Given the description of an element on the screen output the (x, y) to click on. 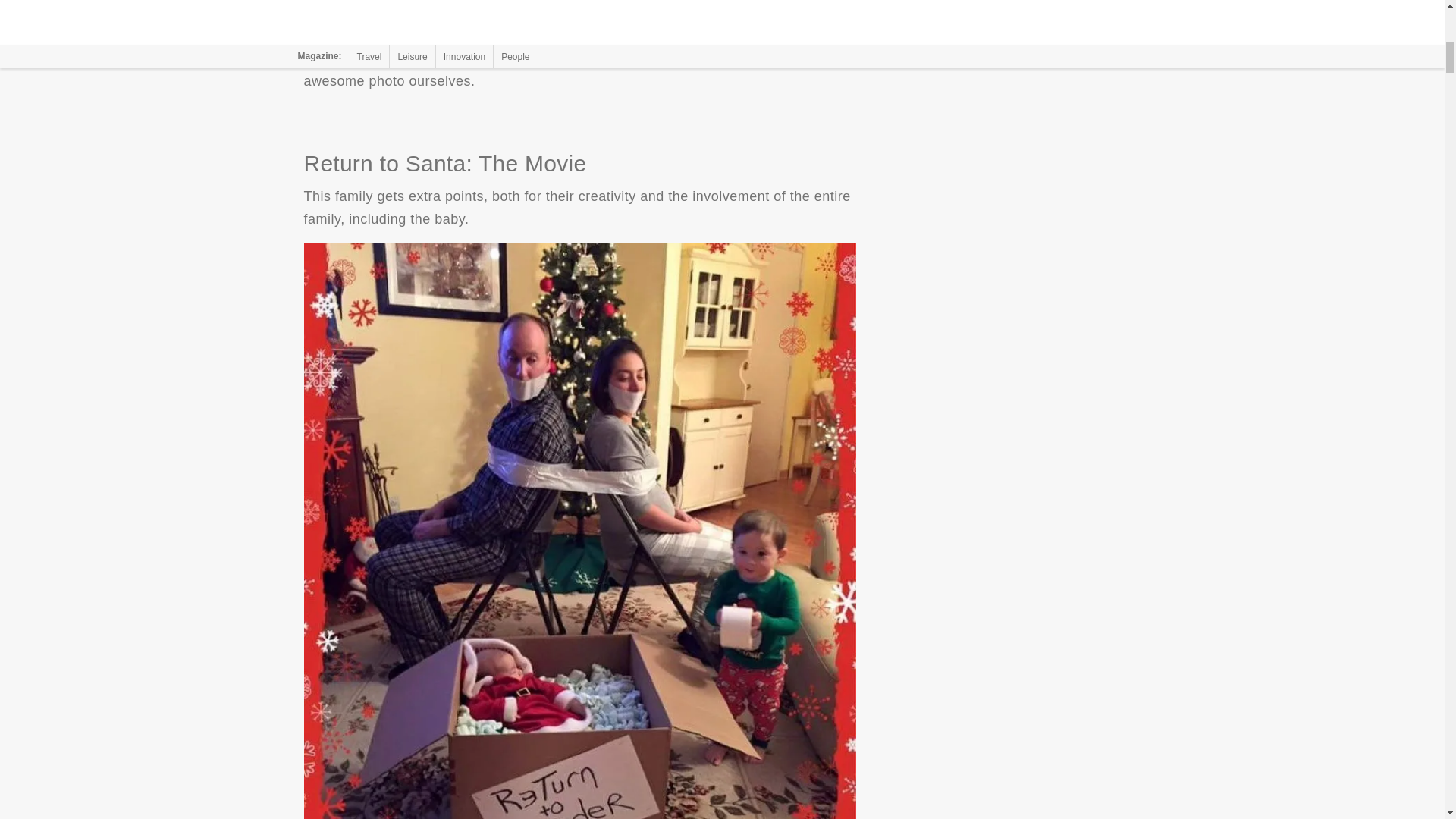
The Wiz (579, 10)
